Given the description of an element on the screen output the (x, y) to click on. 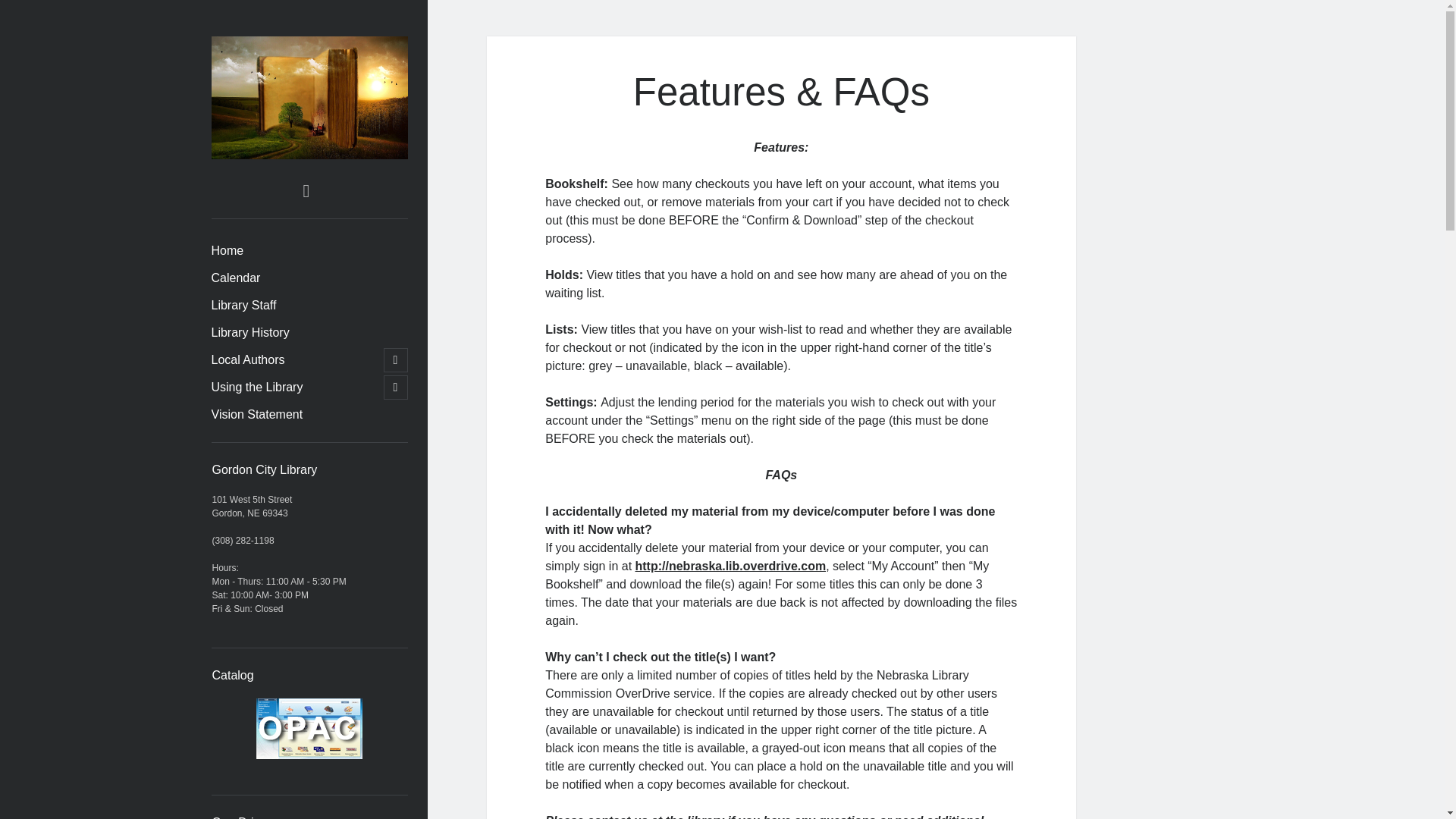
Calendar (235, 278)
open child menu (395, 387)
Vision Statement (256, 414)
Home (227, 250)
Local Authors (247, 360)
open child menu (395, 360)
Library Staff (243, 305)
Library History (249, 332)
Gordon City Library (309, 151)
Using the Library (256, 387)
